Given the description of an element on the screen output the (x, y) to click on. 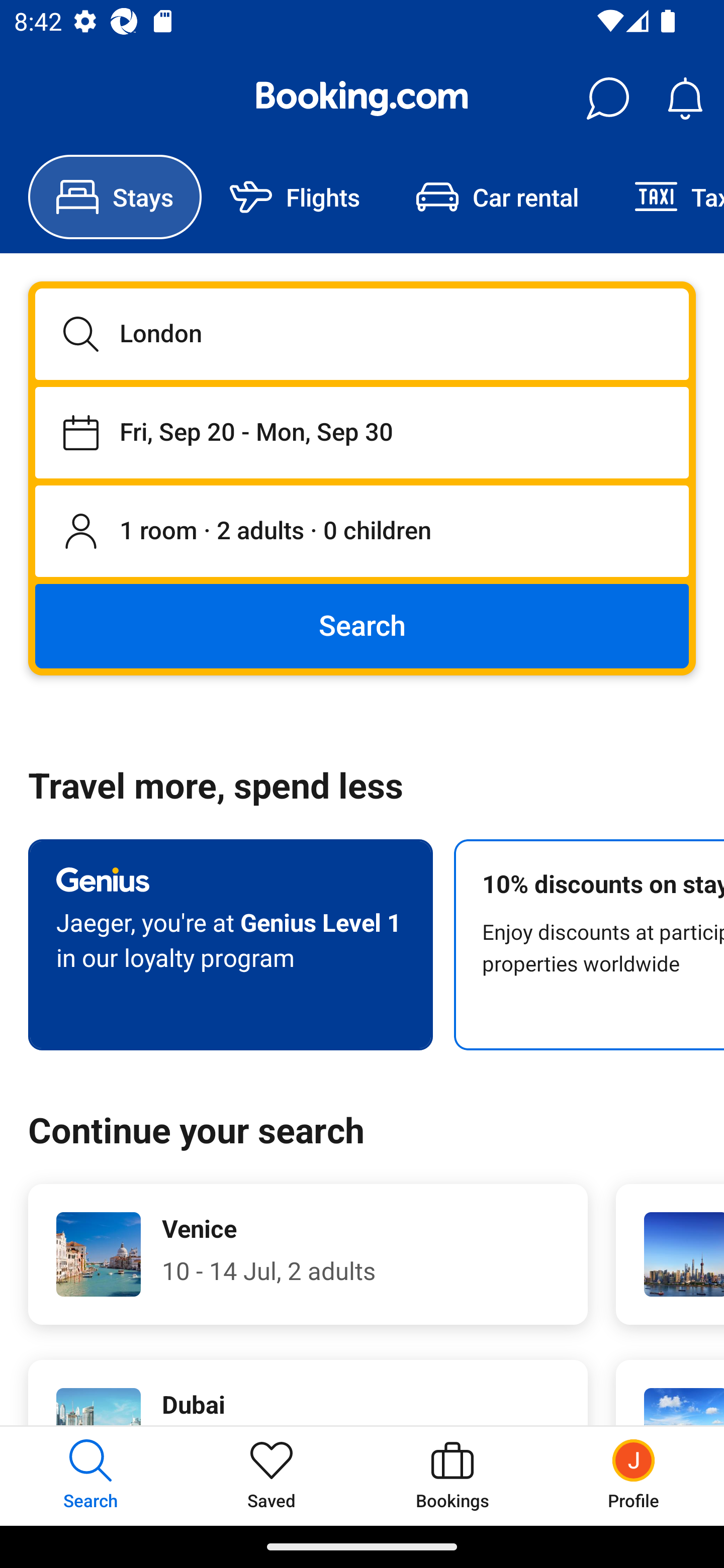
Messages (607, 98)
Notifications (685, 98)
Stays (114, 197)
Flights (294, 197)
Car rental (497, 197)
Taxi (665, 197)
London (361, 333)
Staying from Fri, Sep 20 until Mon, Sep 30 (361, 432)
1 room, 2 adults, 0 children (361, 531)
Search (361, 625)
Venice 10 - 14 Jul, 2 adults (307, 1253)
Saved (271, 1475)
Bookings (452, 1475)
Profile (633, 1475)
